Given the description of an element on the screen output the (x, y) to click on. 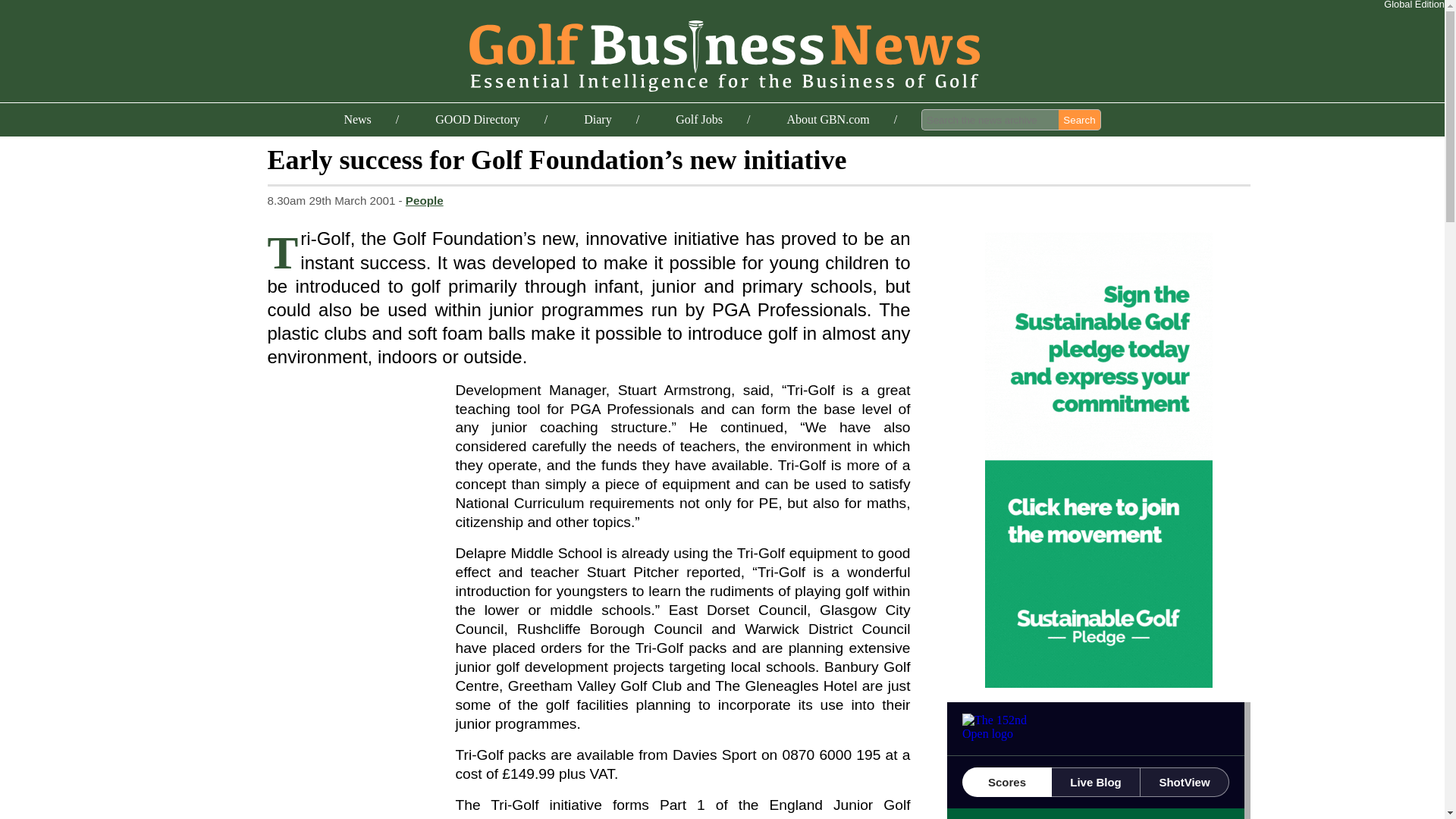
Search (1079, 119)
People (425, 200)
Golf Jobs (698, 119)
GBN Home (722, 52)
Diary (597, 119)
About GBN.com (827, 119)
News (357, 119)
Conferences and exhibitions across the golfing world (597, 119)
Open Championship Leaderboard (1097, 760)
All the latest news from the golf industry (357, 119)
GOOD Directory (477, 119)
